Given the description of an element on the screen output the (x, y) to click on. 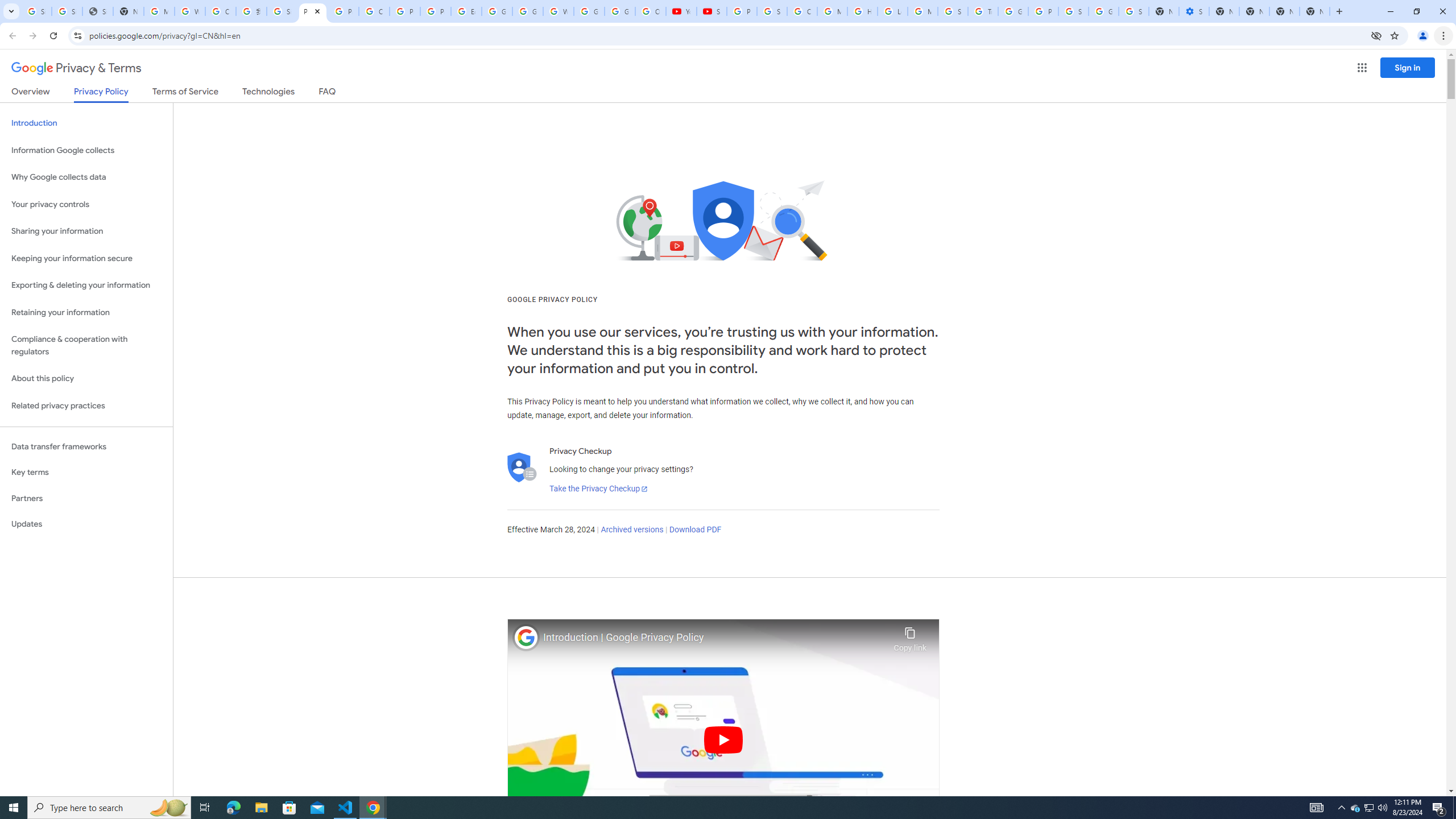
Address and search bar (726, 35)
Play (723, 739)
Exporting & deleting your information (86, 284)
Subscriptions - YouTube (711, 11)
Sign in - Google Accounts (771, 11)
Sharing your information (86, 230)
Sign in - Google Accounts (66, 11)
Updates (86, 524)
Data transfer frameworks (86, 446)
